Given the description of an element on the screen output the (x, y) to click on. 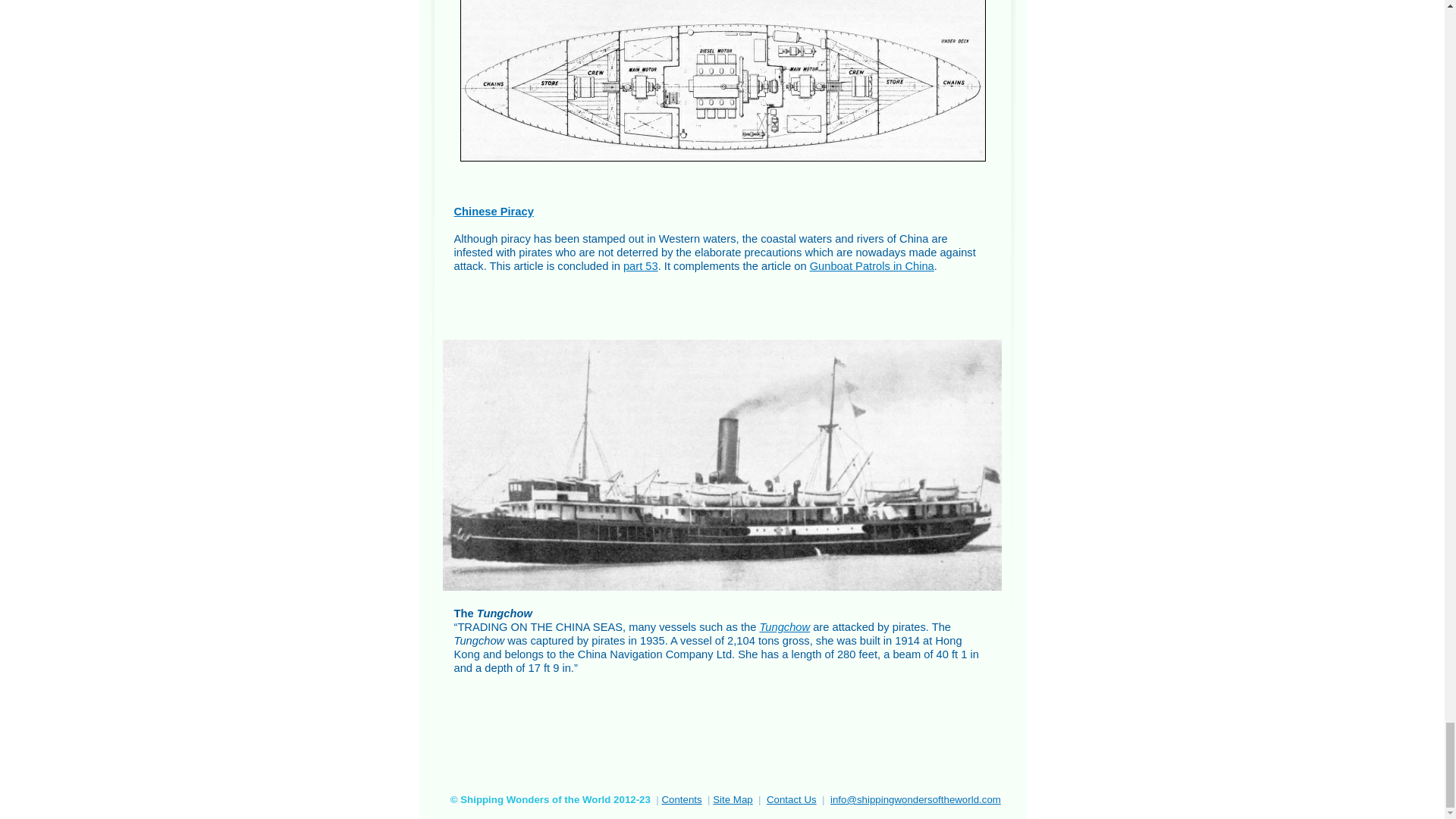
The  (722, 80)
Contents (681, 799)
Site Map (732, 799)
Contact Us (791, 799)
